Given the description of an element on the screen output the (x, y) to click on. 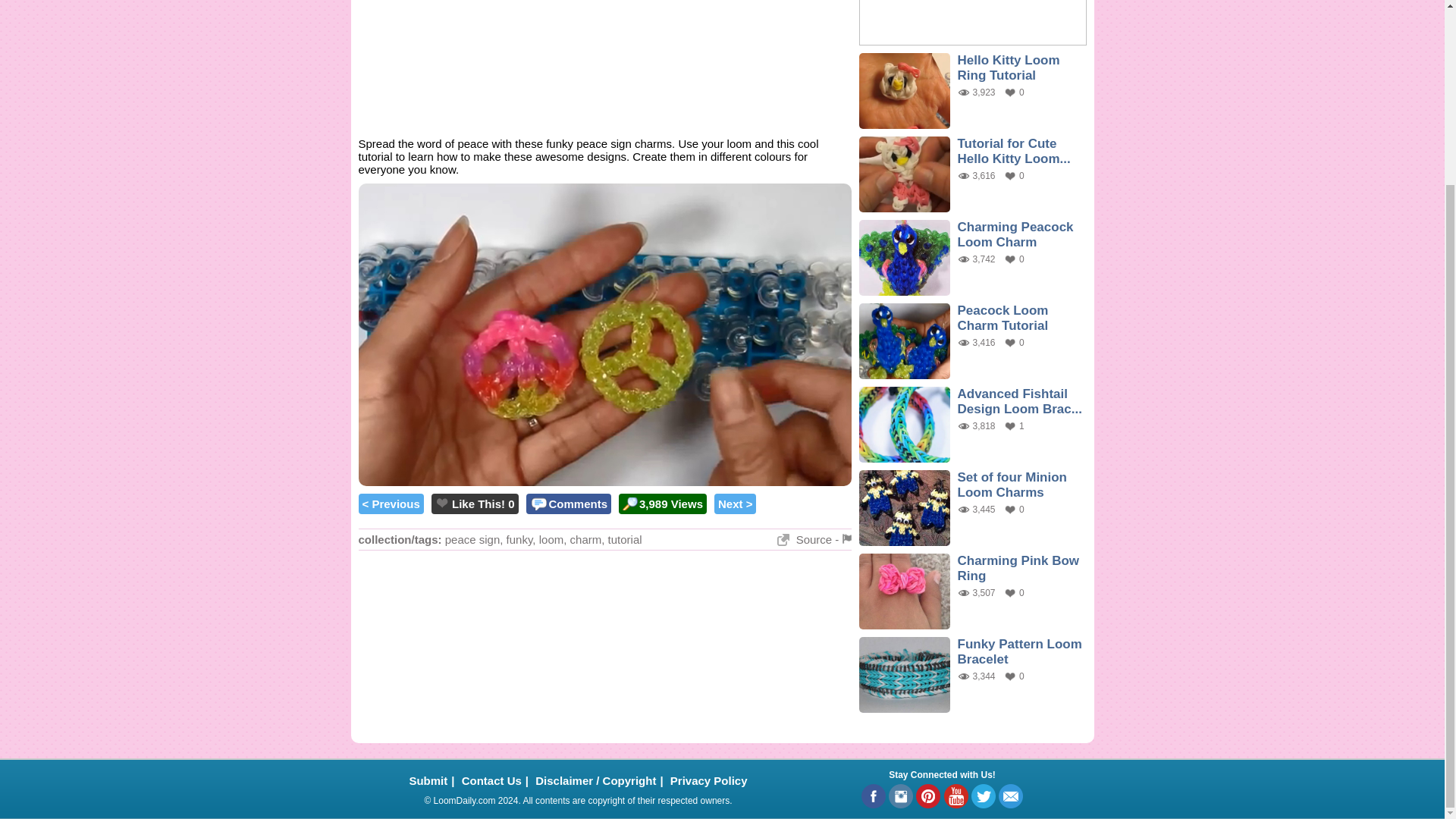
tutorial (625, 539)
Peacock Loom Charm Tutorial (1002, 317)
Charming Peacock Loom Charm (1014, 234)
Like This! (478, 503)
Source (804, 539)
peace sign (472, 539)
Comments (568, 503)
Hello Kitty Loom Ring Tutorial (1007, 67)
charm (586, 539)
loom (551, 539)
Advanced Fishtail Design Loom Brac... (1018, 401)
Add to My Likes (441, 502)
Set of four Minion Loom Charms (1010, 484)
Charming Pink Bow Ring (1017, 568)
funky (519, 539)
